Given the description of an element on the screen output the (x, y) to click on. 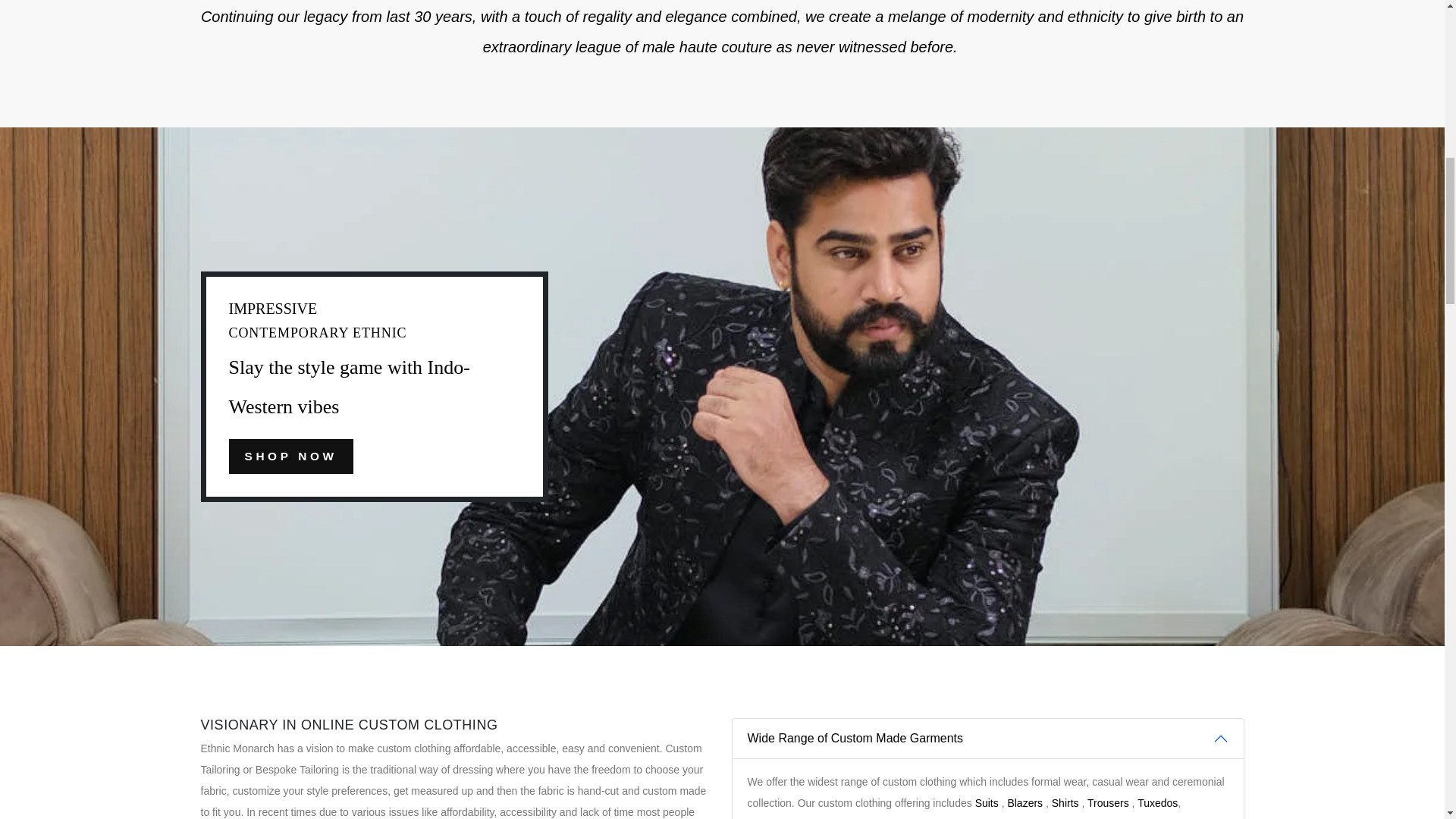
SHOP NOW (290, 456)
Wide Range of Custom Made Garments (986, 738)
